Given the description of an element on the screen output the (x, y) to click on. 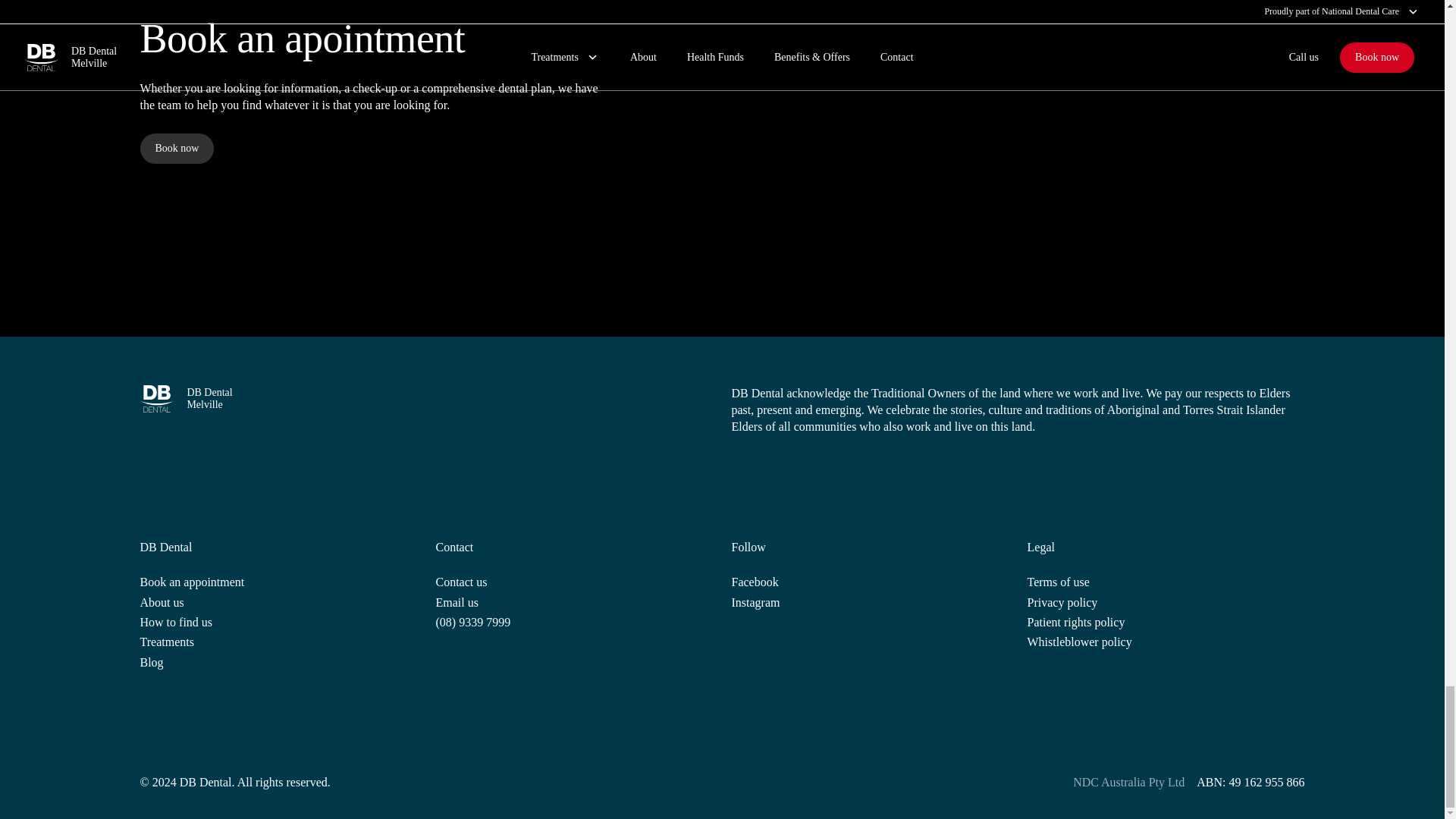
About us (161, 602)
Blog (151, 662)
Book now (176, 148)
Book an appointment (191, 582)
Treatments (426, 398)
How to find us (166, 641)
